Given the description of an element on the screen output the (x, y) to click on. 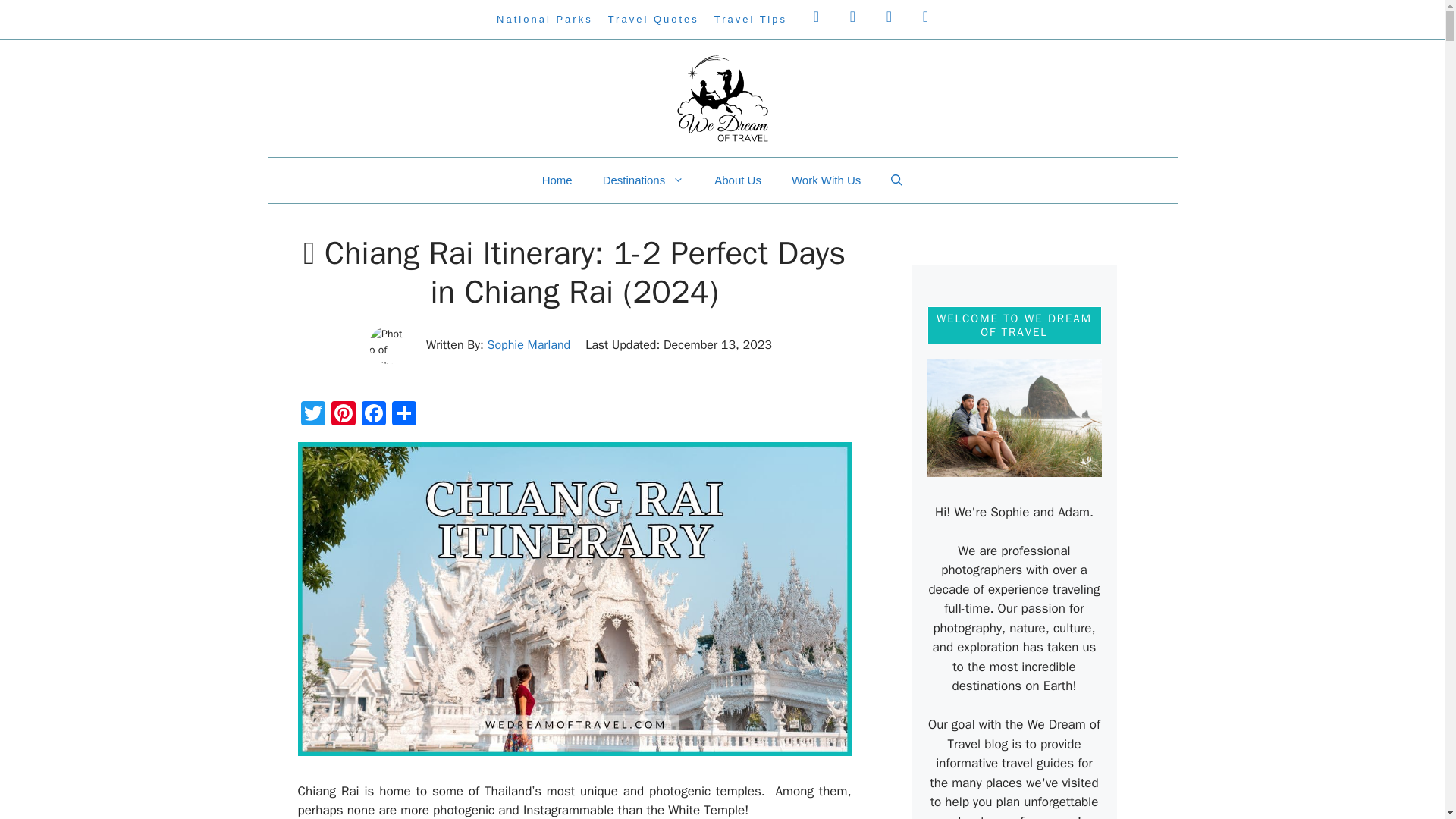
Travel Quotes (653, 19)
National Parks (544, 19)
Twitter (312, 415)
Home (557, 180)
Pinterest (342, 415)
Destinations (644, 180)
Travel Tips (750, 19)
Facebook (373, 415)
